Given the description of an element on the screen output the (x, y) to click on. 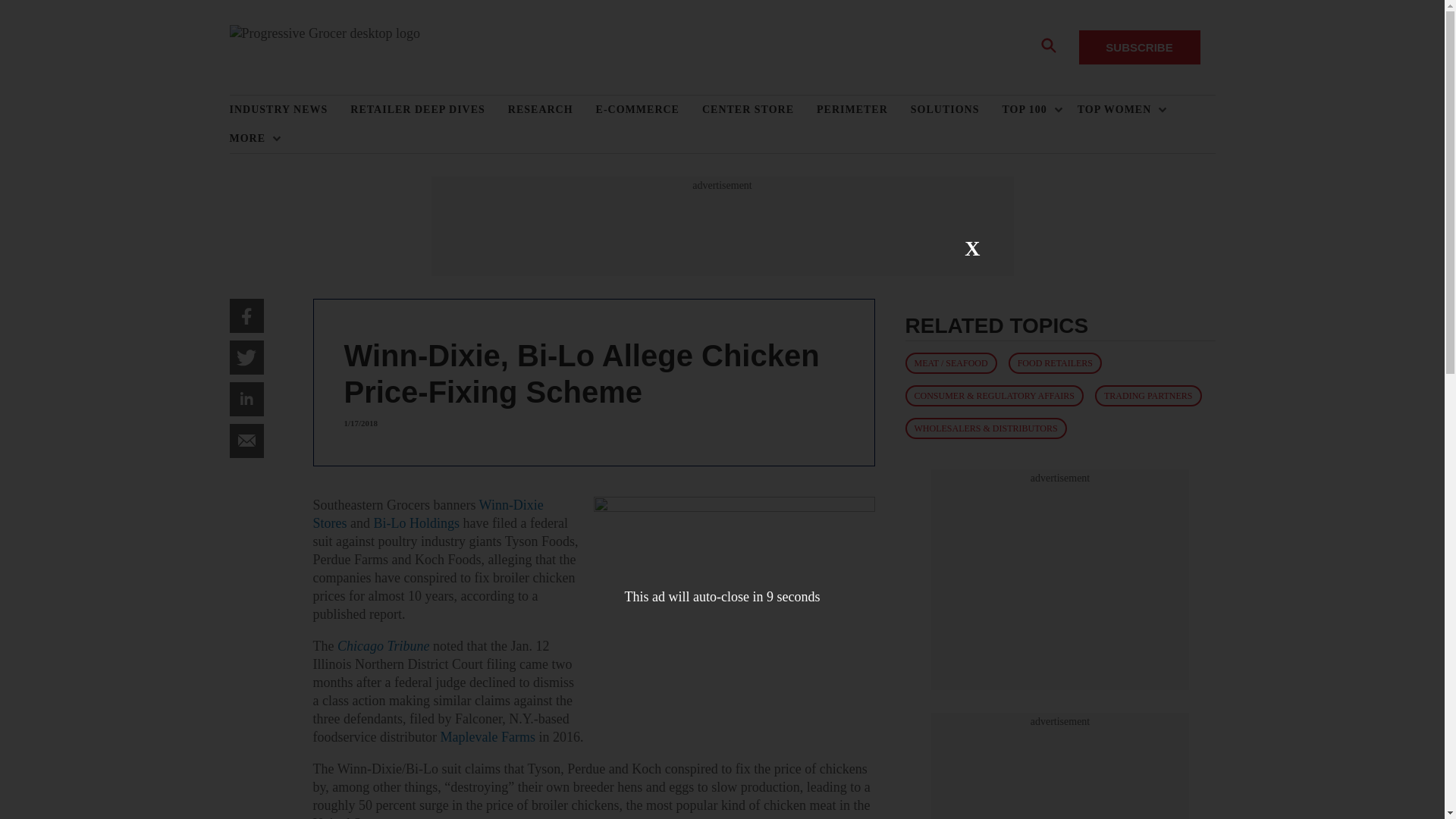
facebook (245, 315)
RESEARCH (551, 109)
TOP 100 (1028, 109)
SOLUTIONS (957, 109)
email (245, 440)
CENTER STORE (758, 109)
3rd party ad content (1059, 773)
PERIMETER (863, 109)
3rd party ad content (1059, 579)
SUBSCRIBE (1138, 47)
MORE (250, 138)
3rd party ad content (721, 226)
INDUSTRY NEWS (289, 109)
TOP WOMEN (1117, 109)
